Given the description of an element on the screen output the (x, y) to click on. 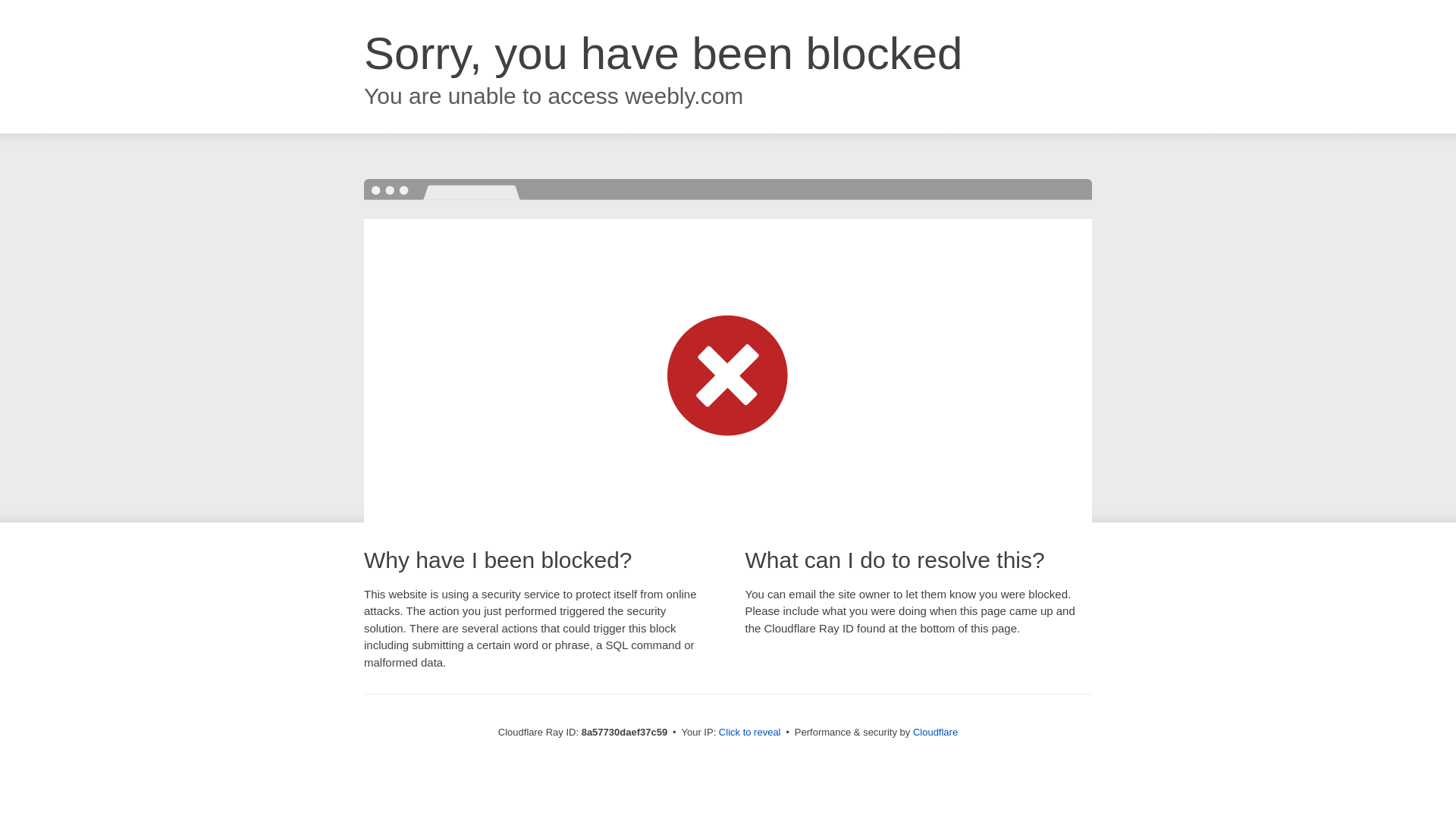
Click to reveal (749, 732)
Cloudflare (935, 731)
